Given the description of an element on the screen output the (x, y) to click on. 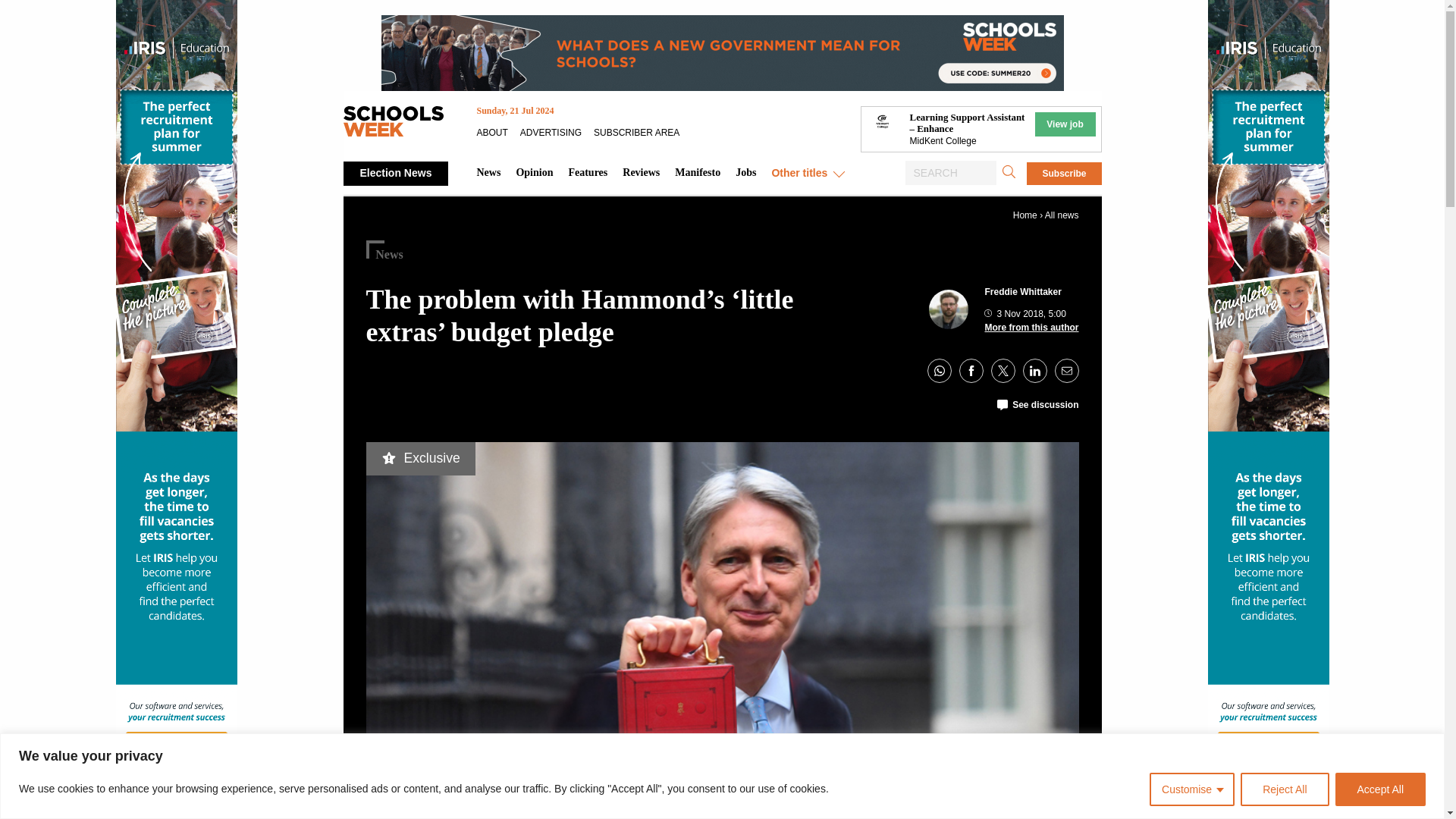
Accept All (1380, 788)
Customise (1192, 788)
Home (1024, 214)
Posts by Freddie Whittaker (1022, 291)
All news (1061, 214)
Reject All (1283, 788)
